Given the description of an element on the screen output the (x, y) to click on. 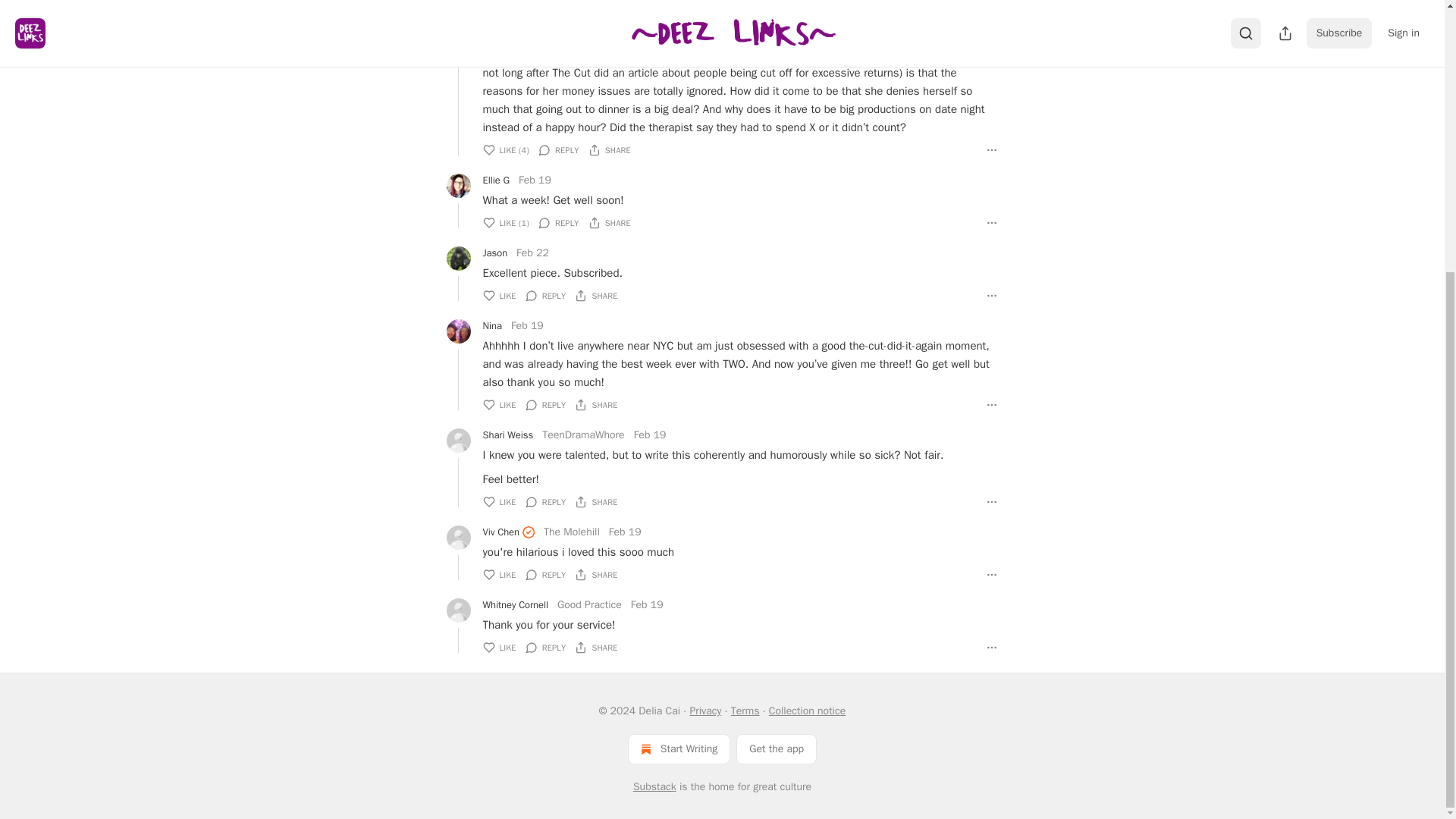
SHARE (609, 222)
Feb 19 (535, 15)
Feb 19 (534, 180)
SHARE (609, 150)
REPLY (558, 222)
REPLY (558, 150)
Pam B (495, 14)
Ellie G (495, 180)
